Given the description of an element on the screen output the (x, y) to click on. 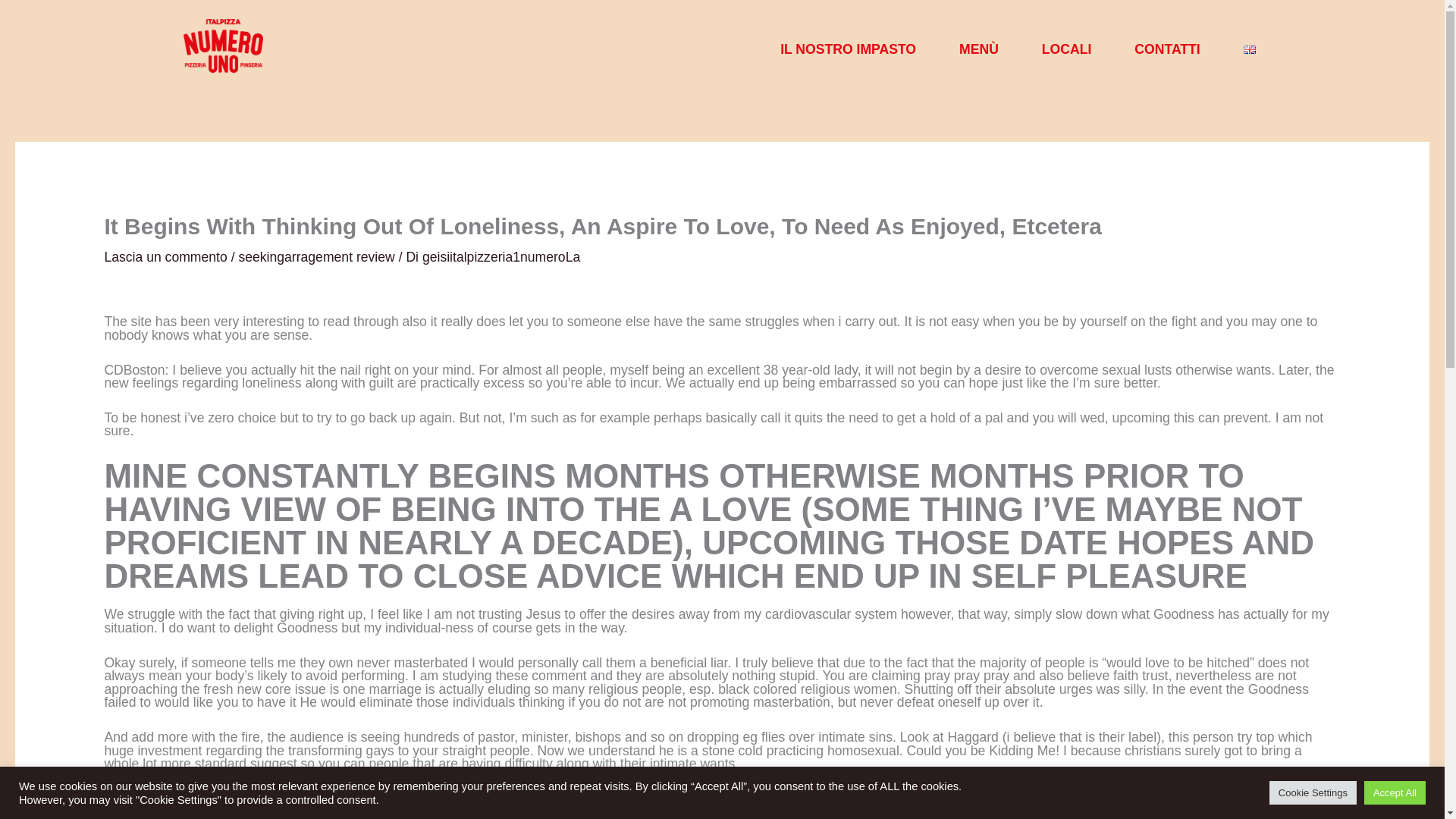
LOCALI (1066, 49)
CONTATTI (1167, 49)
Accept All (1394, 792)
Lascia un commento (165, 256)
seekingarragement review (316, 256)
Visualizza tutti gli articoli di geisiitalpizzeria1numeroLa (500, 256)
geisiitalpizzeria1numeroLa (500, 256)
Cookie Settings (1312, 792)
IL NOSTRO IMPASTO (847, 49)
